Given the description of an element on the screen output the (x, y) to click on. 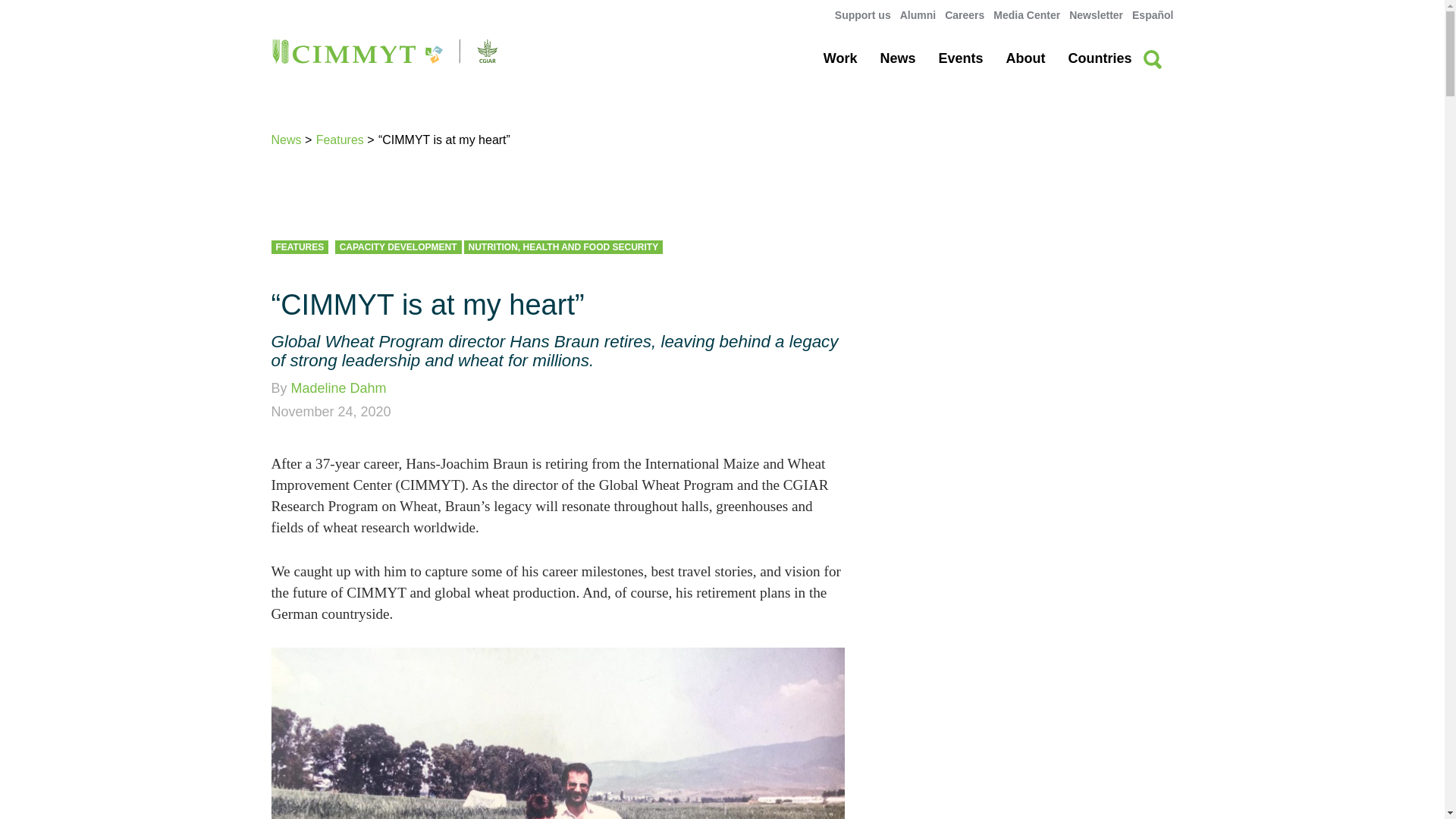
Media Center (1025, 15)
Posts by Madeline Dahm (339, 387)
Work (840, 57)
Our work (840, 57)
News (897, 57)
Countries (1099, 57)
Newsletter (1095, 15)
About (1025, 57)
Events (959, 57)
Events (959, 57)
